Given the description of an element on the screen output the (x, y) to click on. 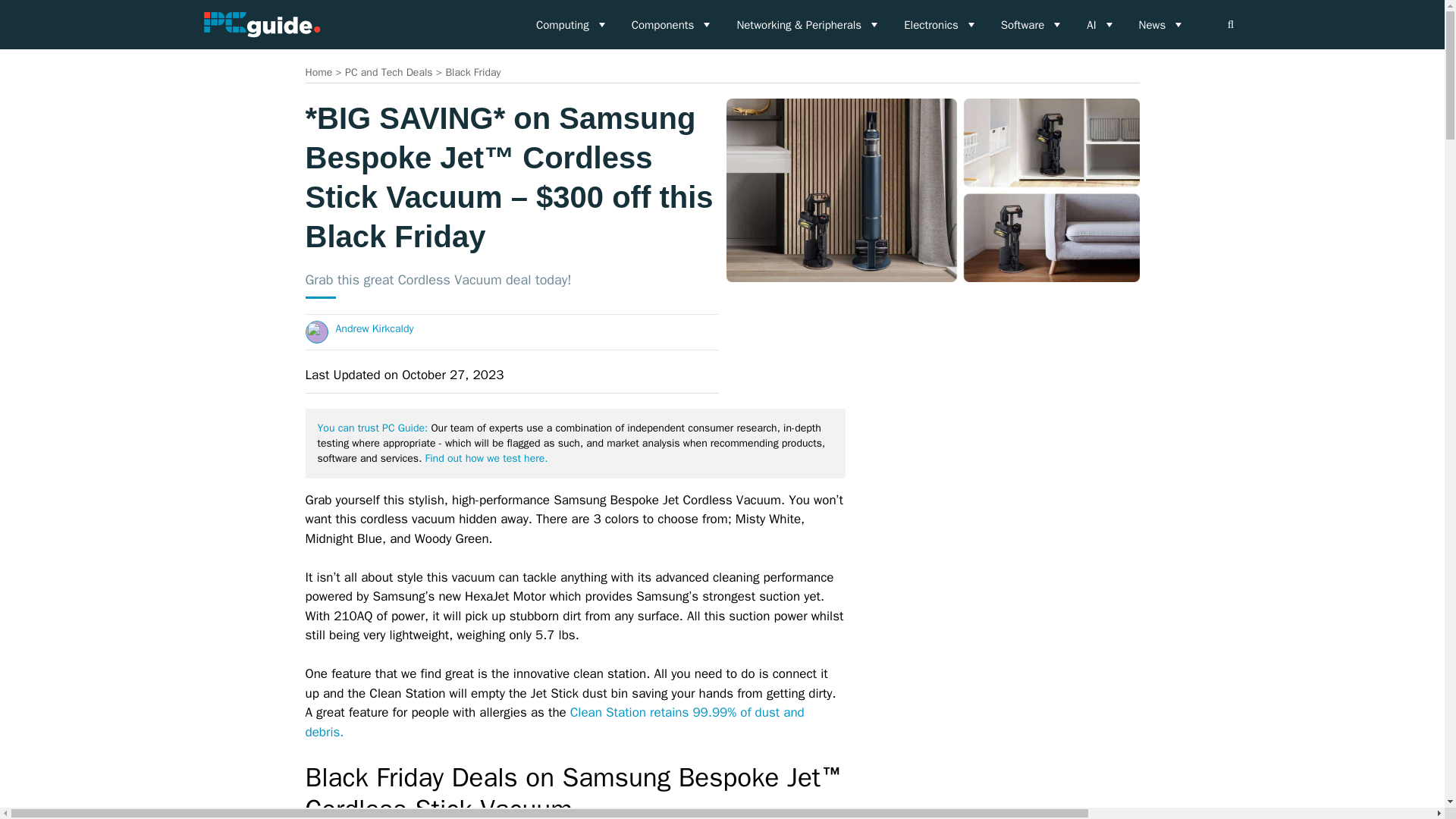
PC Guide (260, 23)
PC Guide (260, 24)
Computing (571, 23)
